Given the description of an element on the screen output the (x, y) to click on. 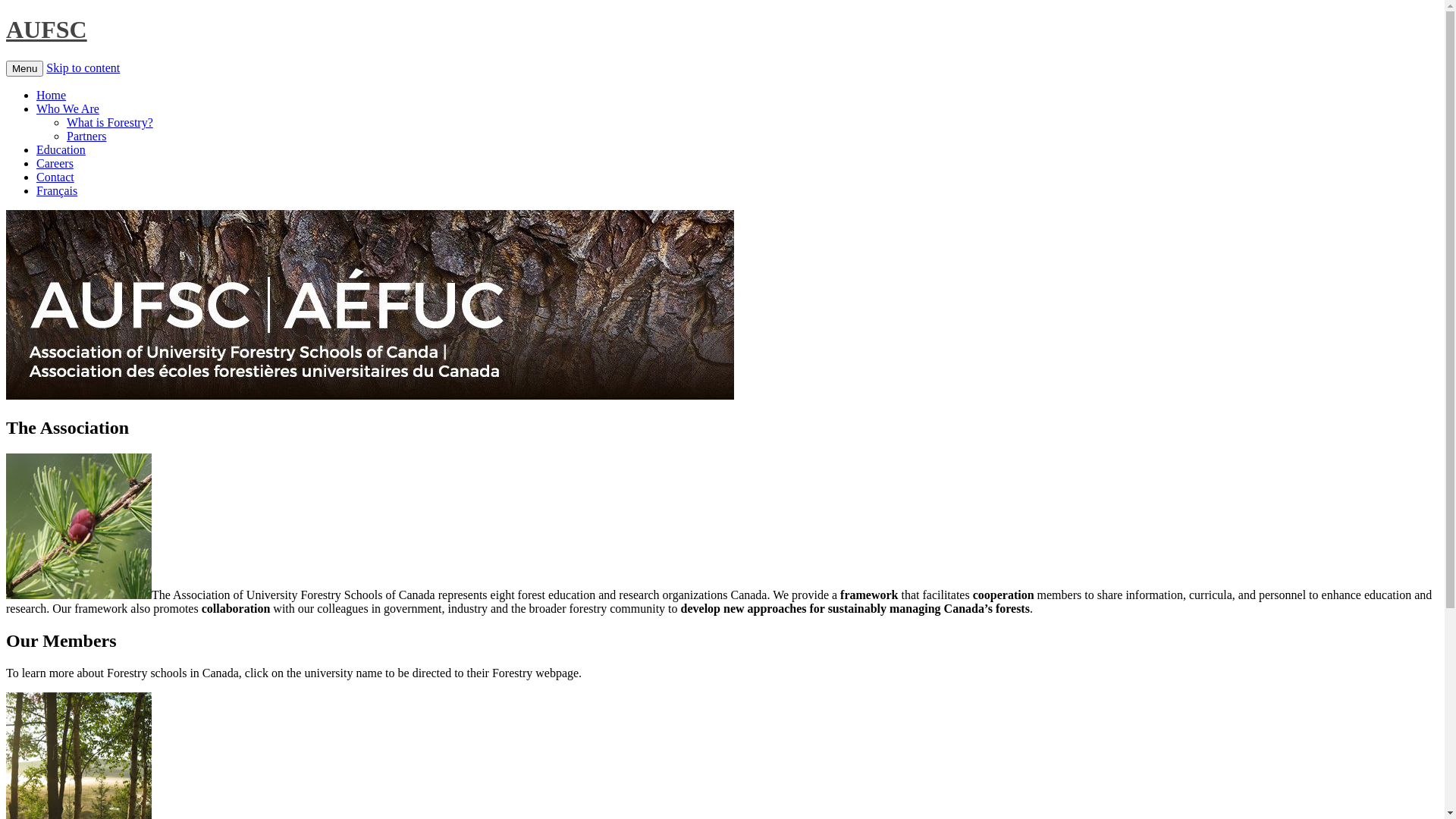
Who We Are Element type: text (67, 108)
Education Element type: text (60, 149)
AUFSC Element type: text (46, 29)
Menu Element type: text (24, 68)
What is Forestry? Element type: text (109, 122)
Careers Element type: text (54, 162)
Home Element type: text (50, 94)
Partners Element type: text (86, 135)
Contact Element type: text (55, 176)
Skip to content Element type: text (82, 67)
